Given the description of an element on the screen output the (x, y) to click on. 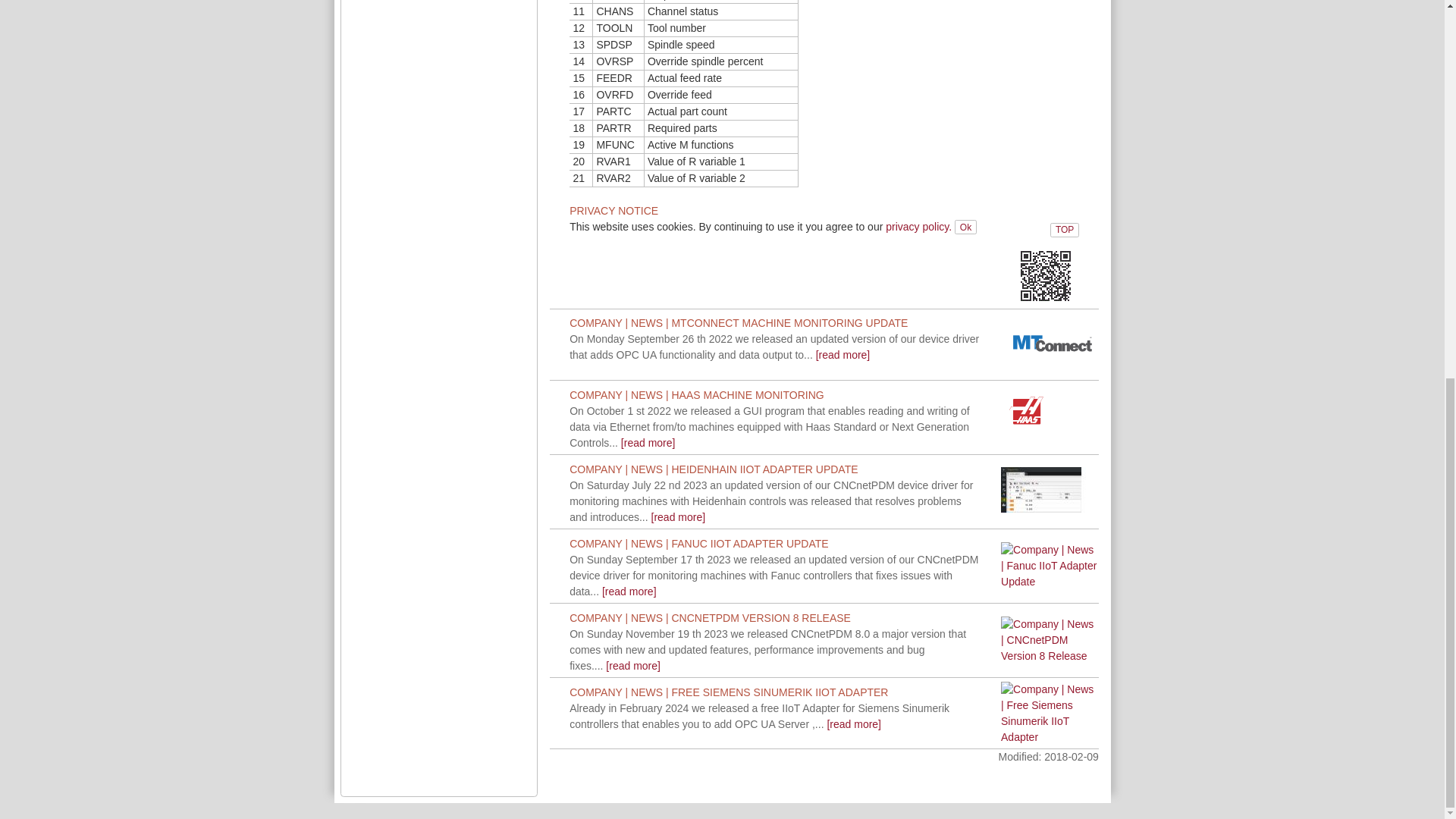
Understood (965, 227)
Ok (965, 227)
Goto top of page (1063, 82)
privacy policy. (918, 226)
TOP (1063, 82)
